Given the description of an element on the screen output the (x, y) to click on. 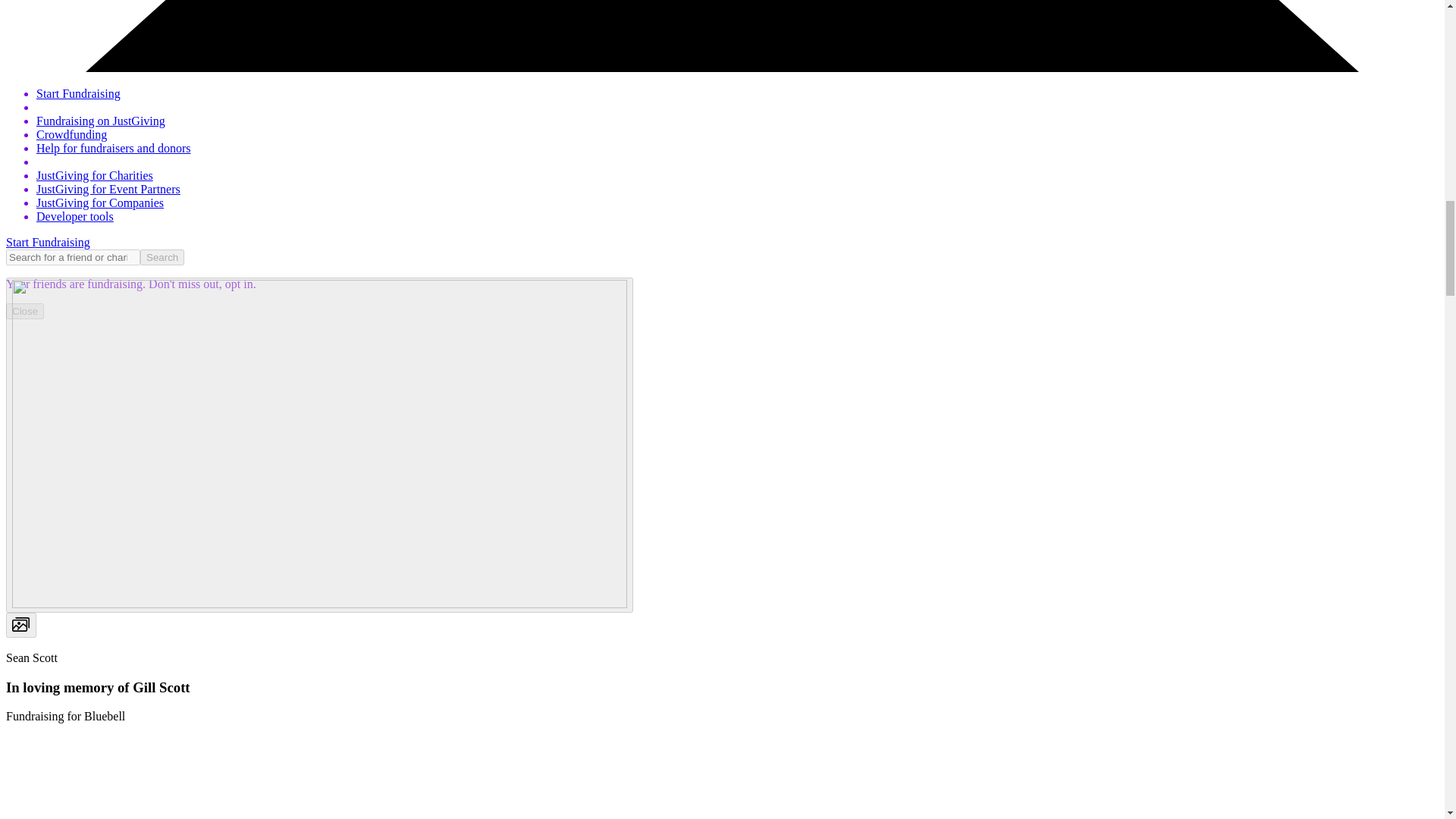
JustGiving for Charities (94, 174)
Start Fundraising (47, 241)
Fundraising on JustGiving (100, 120)
Start Fundraising (78, 92)
Close (24, 311)
Help for fundraisers and donors (113, 147)
JustGiving for Event Partners (108, 188)
Developer tools (74, 215)
Crowdfunding (71, 133)
JustGiving for Companies (99, 202)
